Given the description of an element on the screen output the (x, y) to click on. 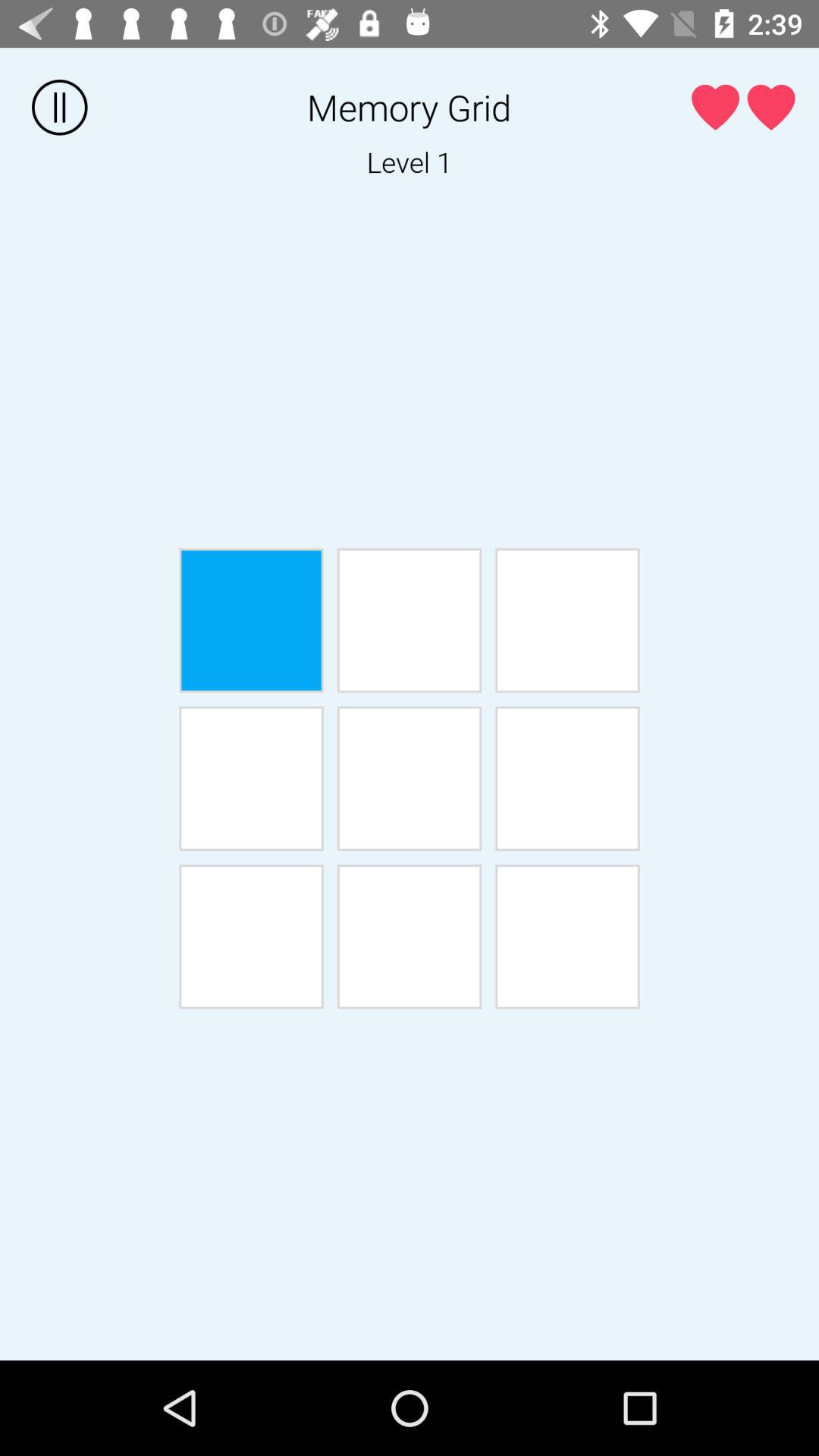
select game tile (567, 620)
